Given the description of an element on the screen output the (x, y) to click on. 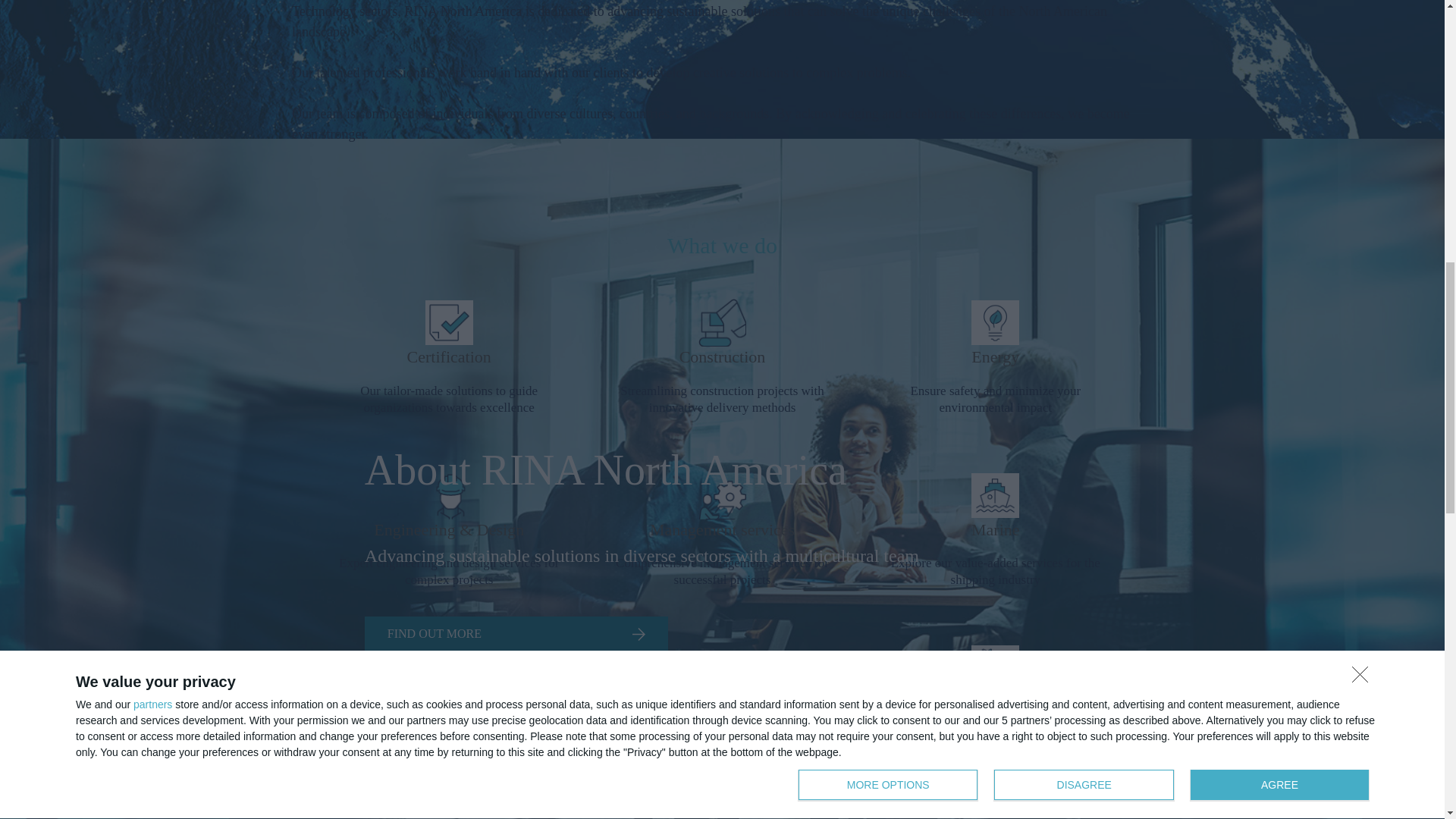
Energy (995, 360)
